Given the description of an element on the screen output the (x, y) to click on. 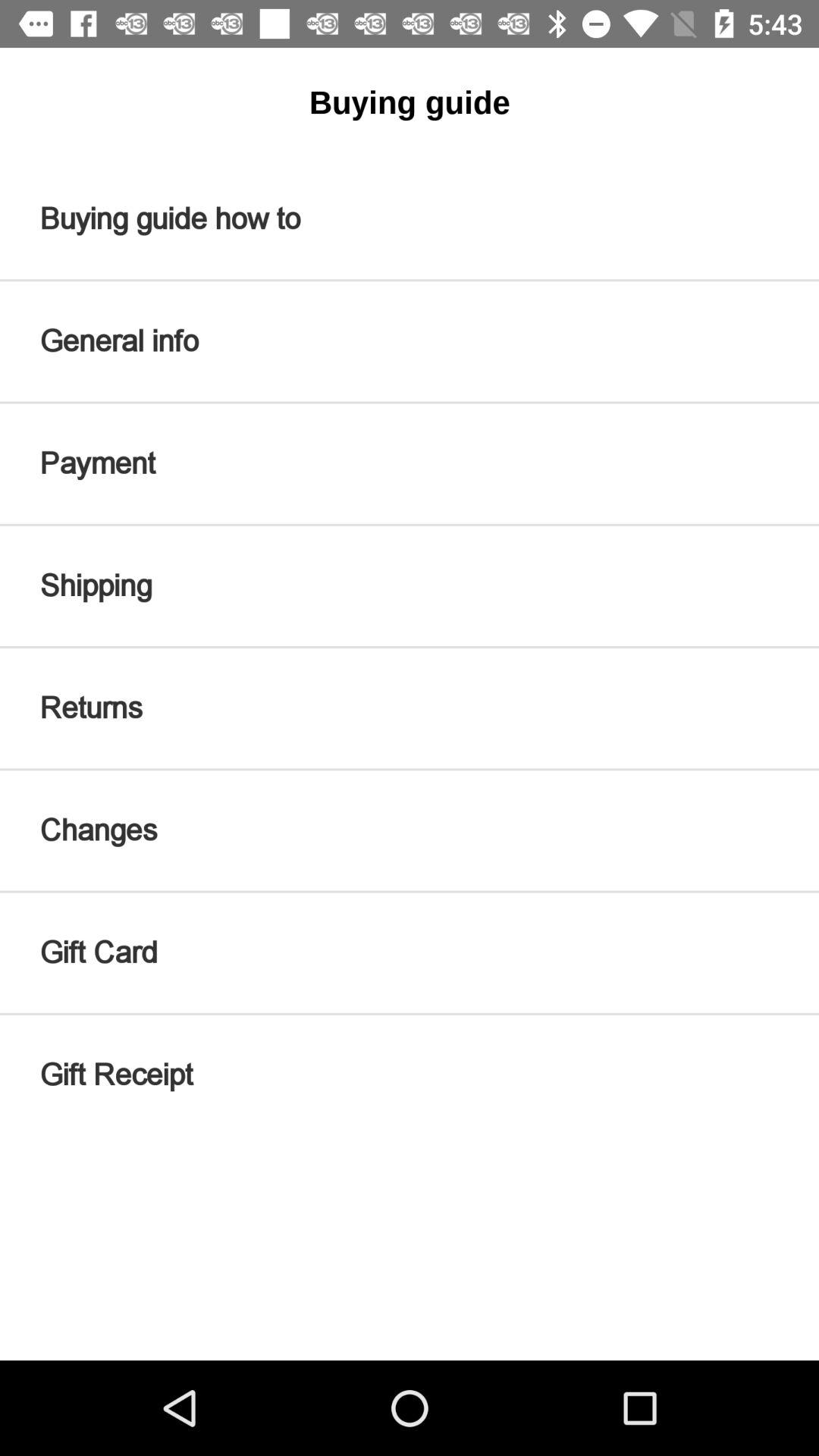
scroll until general info (409, 341)
